Given the description of an element on the screen output the (x, y) to click on. 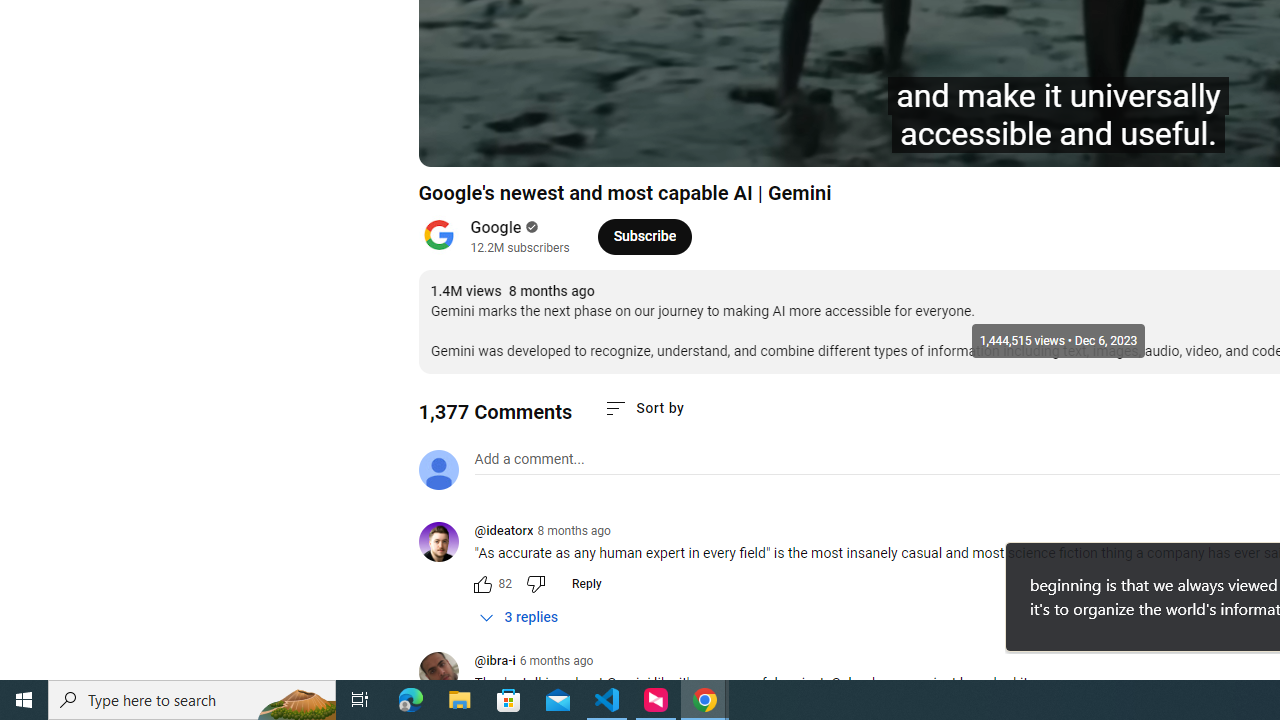
@ideatorx (503, 532)
Like this comment along with 82 other people (482, 583)
8 months ago (573, 531)
6 months ago (555, 661)
Sort comments (644, 408)
Subscribe to Google. (644, 236)
Dislike this comment (534, 583)
Reply (586, 583)
Default profile photo (438, 470)
@ibra-i (446, 673)
AutomationID: simplebox-placeholder (528, 459)
Play (k) (502, 142)
